Given the description of an element on the screen output the (x, y) to click on. 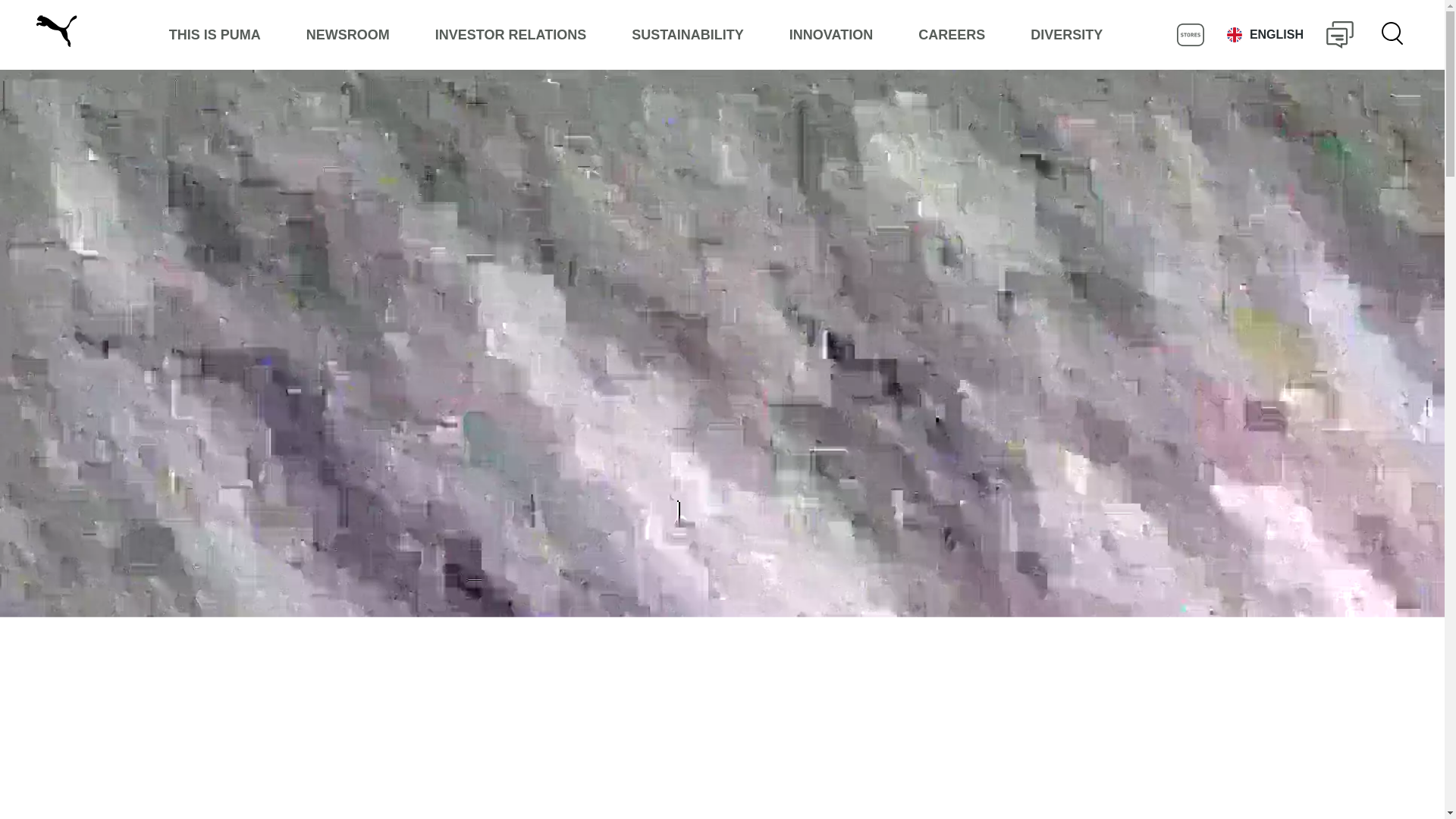
INVESTOR RELATIONS (510, 34)
NEWSROOM (347, 34)
THIS IS PUMA (215, 34)
